Given the description of an element on the screen output the (x, y) to click on. 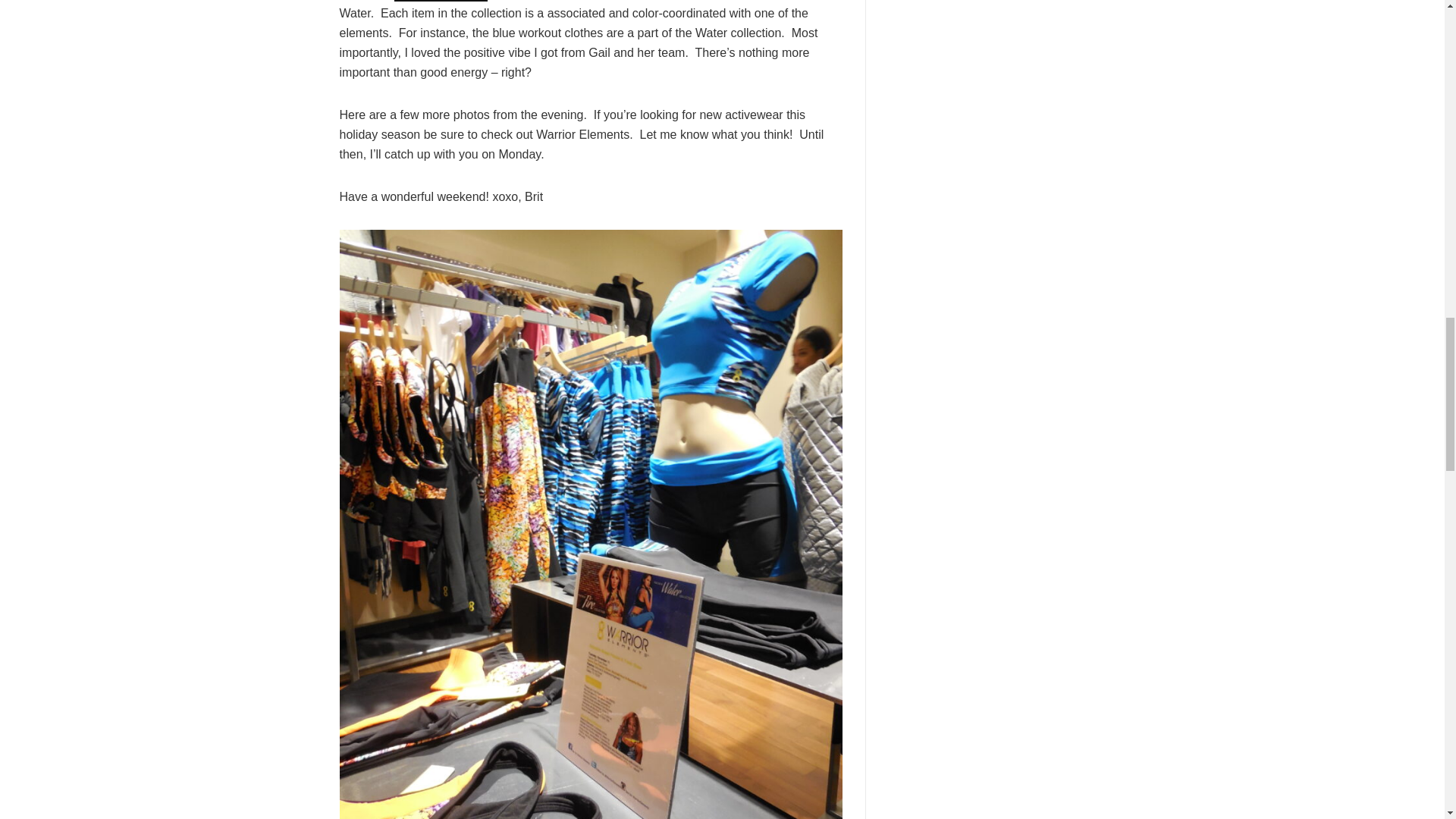
Warrior Elements (440, 0)
